Given the description of an element on the screen output the (x, y) to click on. 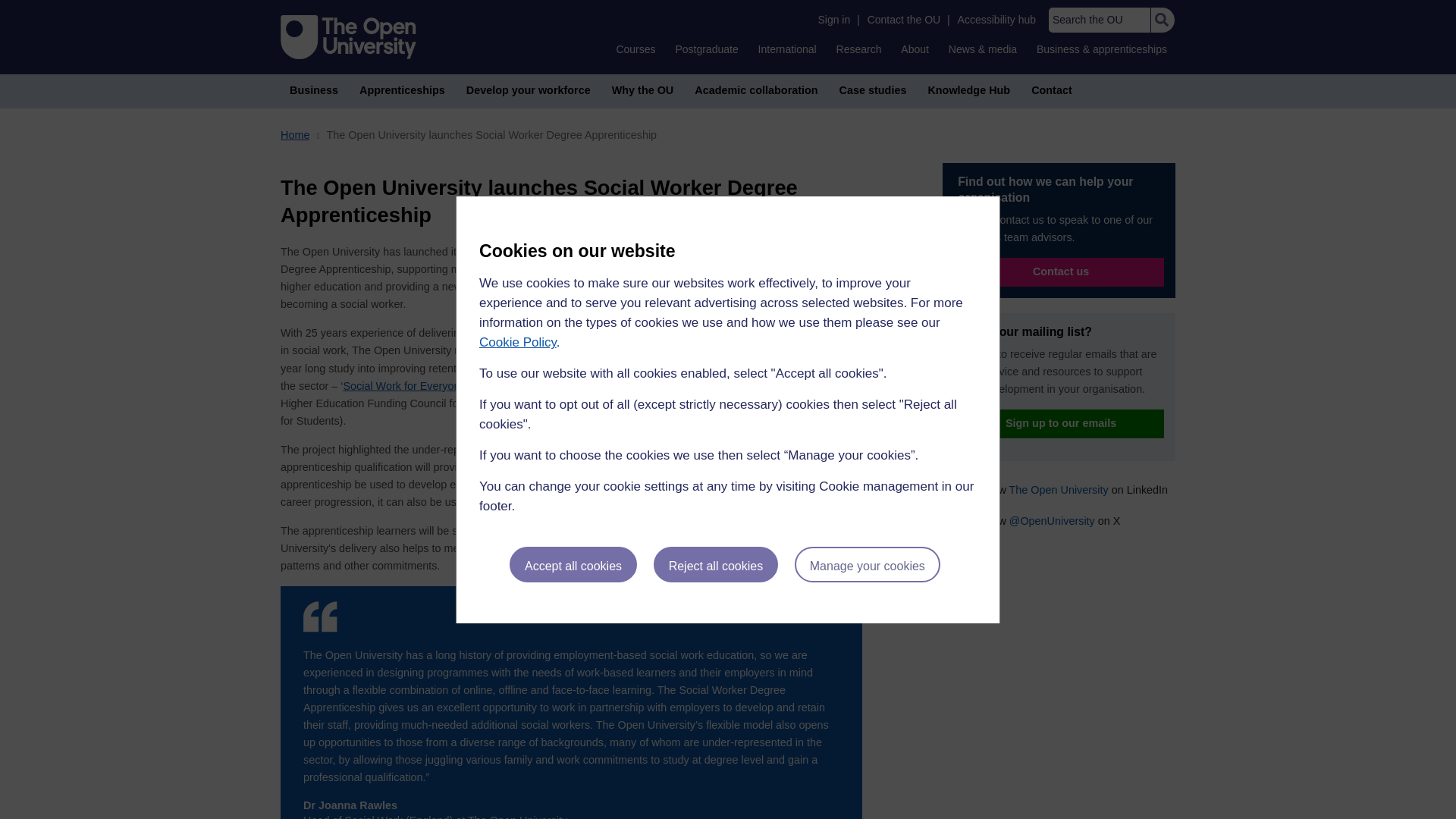
Postgraduate (705, 49)
Search (1161, 19)
Cookie Policy (517, 341)
Apprentice social workers (722, 330)
Sign in (833, 19)
Accept all cookies (573, 564)
International (787, 49)
Courses (635, 49)
Contact the OU (903, 19)
About (914, 49)
